Given the description of an element on the screen output the (x, y) to click on. 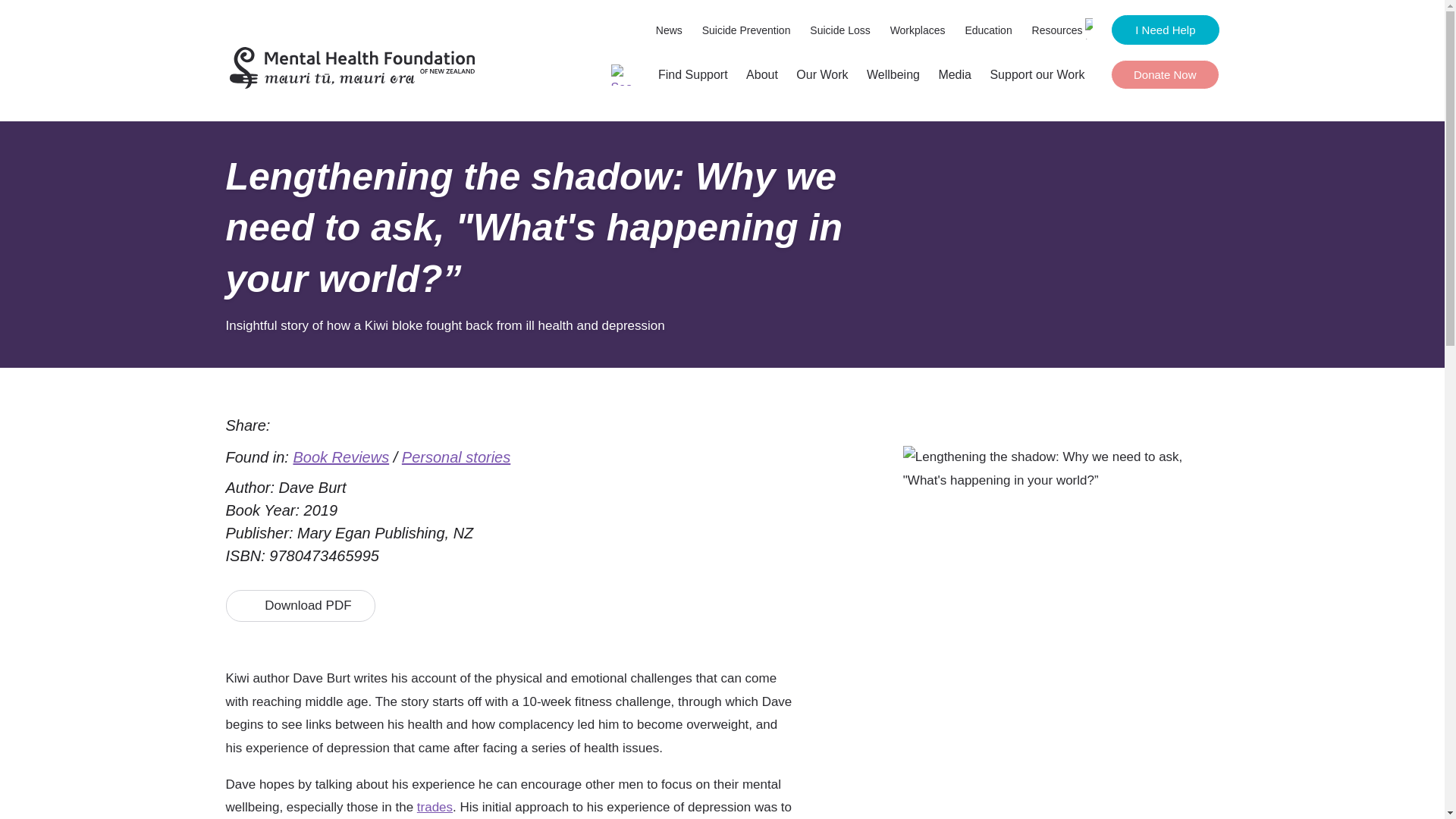
Donate Now (1165, 74)
Support our Work (1037, 74)
Our Work (821, 74)
Media (954, 74)
Suicide Loss (839, 29)
News (668, 29)
Resources (1062, 29)
I Need Help (1165, 30)
Workplaces (917, 29)
Education (987, 29)
